Given the description of an element on the screen output the (x, y) to click on. 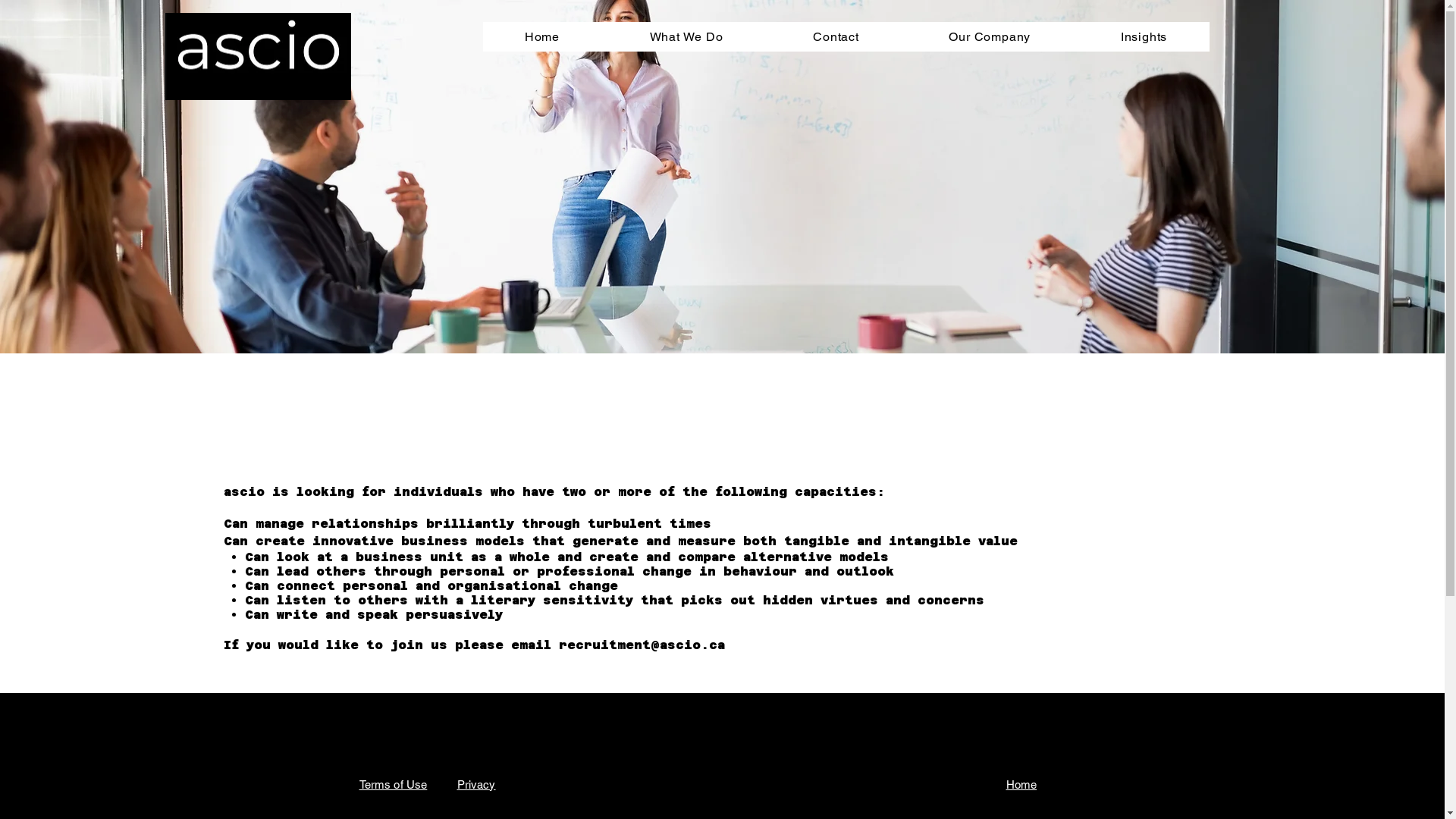
Privacy Element type: text (475, 784)
recruitment@ascio.ca Element type: text (641, 644)
Home Element type: text (541, 36)
What We Do Element type: text (686, 36)
Terms of Use Element type: text (393, 784)
ascio small logo.png Element type: hover (256, 56)
Our Company Element type: text (989, 36)
Insights Element type: text (1143, 36)
Contact Element type: text (835, 36)
Home Element type: text (1020, 784)
